Given the description of an element on the screen output the (x, y) to click on. 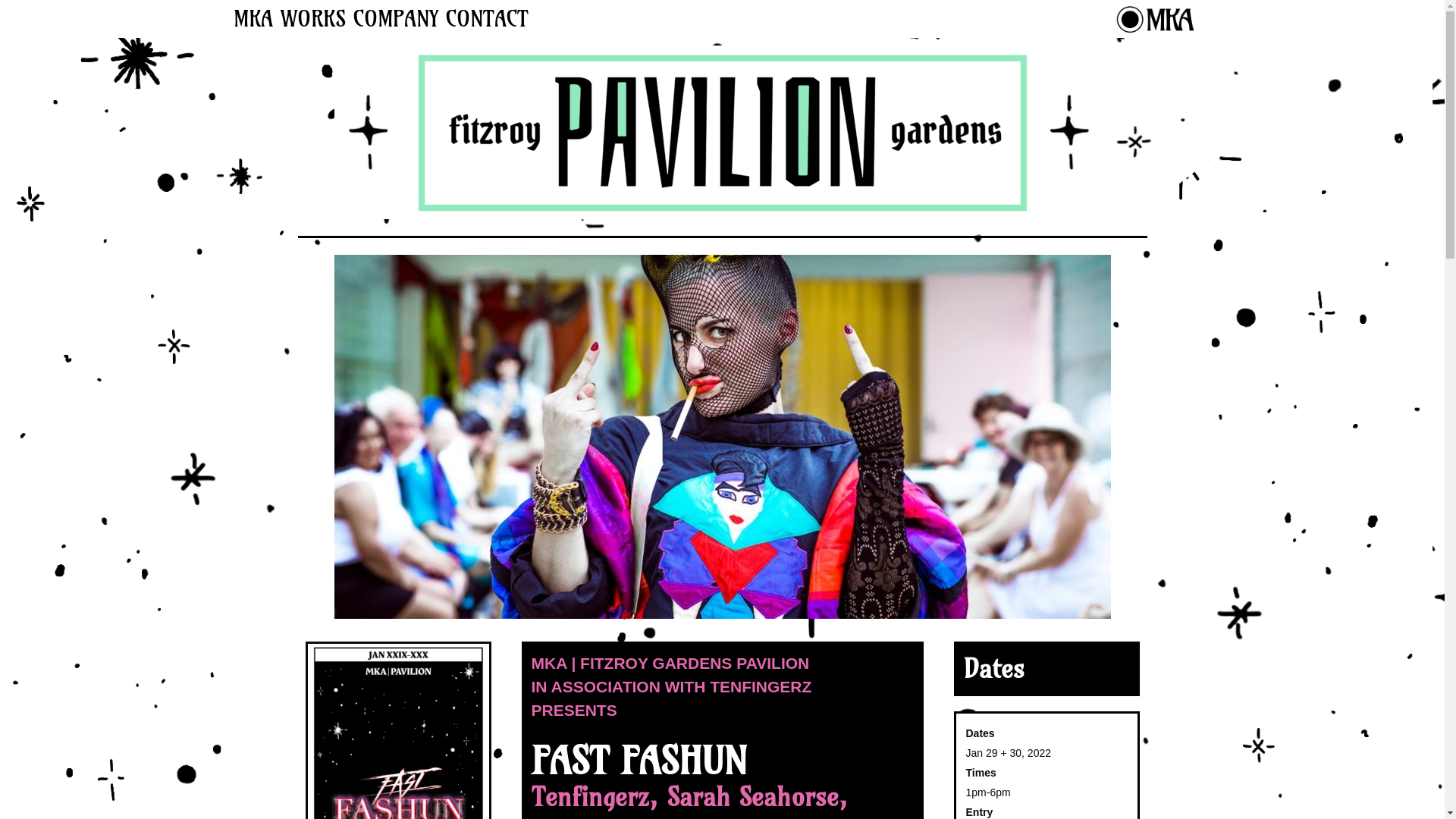
WORKS Element type: text (312, 18)
CONTACT Element type: text (486, 18)
COMPANY Element type: text (394, 18)
MKA Element type: text (252, 18)
